Given the description of an element on the screen output the (x, y) to click on. 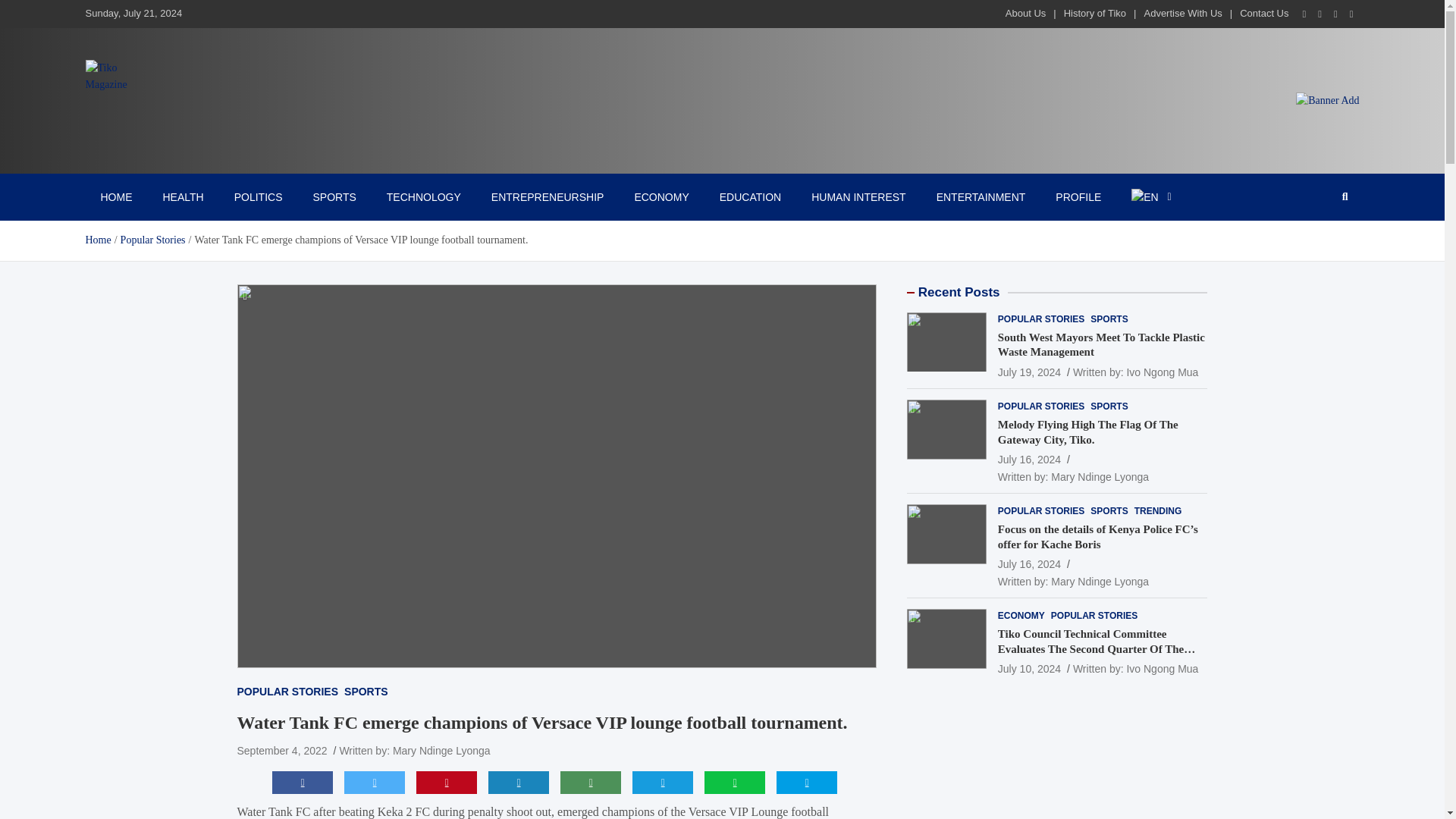
English (1151, 196)
PROFILE (1078, 196)
EDUCATION (750, 196)
SPORTS (334, 196)
POPULAR STORIES (286, 691)
About Us (1025, 12)
ECONOMY (660, 196)
Advertise With Us (1181, 12)
Home (97, 239)
Popular Stories (153, 239)
Melody Flying High The Flag Of The Gateway City, Tiko. (1029, 459)
HOME (115, 196)
September 4, 2022 (280, 750)
TECHNOLOGY (423, 196)
HUMAN INTEREST (858, 196)
